Given the description of an element on the screen output the (x, y) to click on. 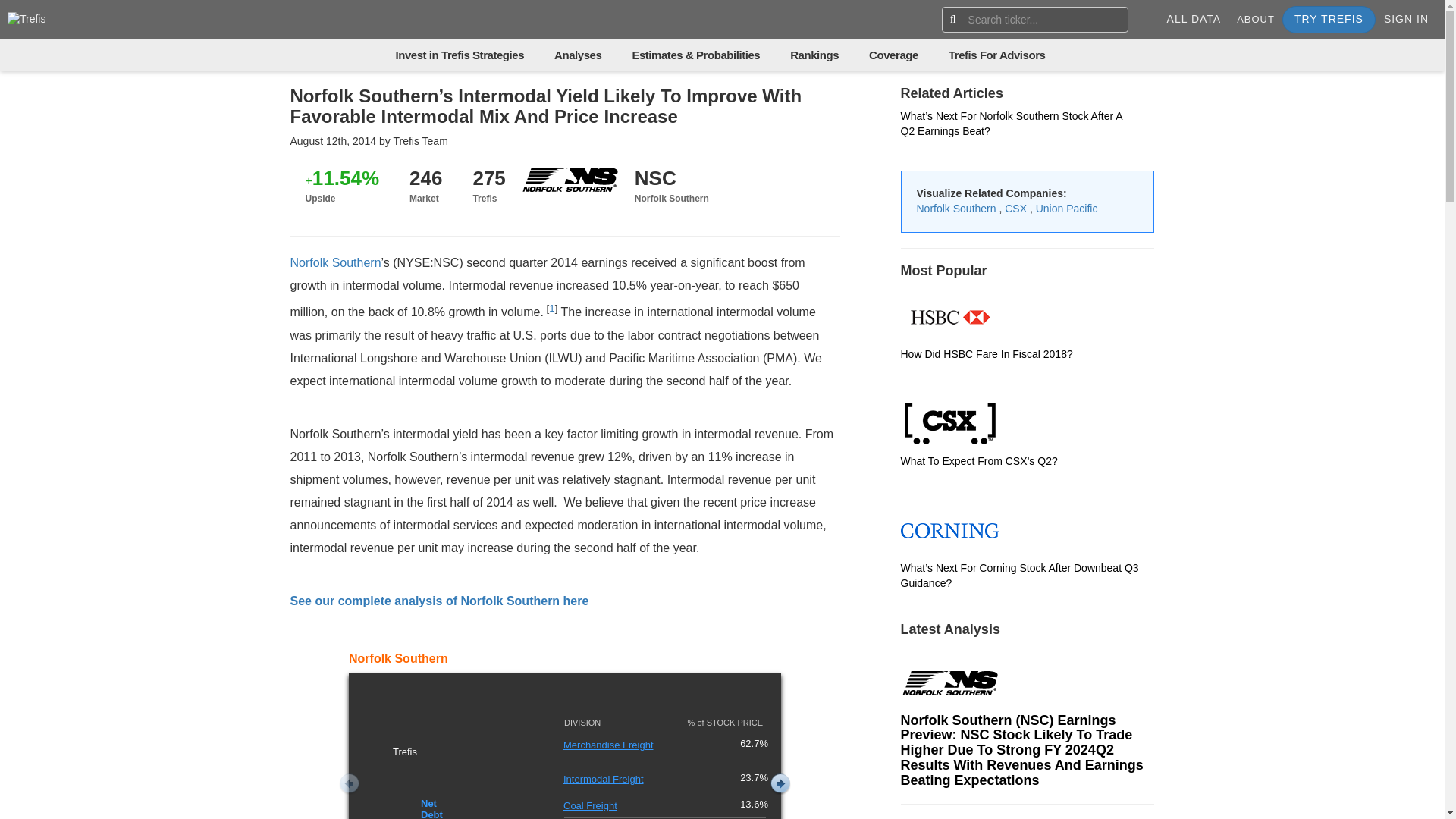
TRY TREFIS (1328, 19)
See our complete analysis of Norfolk Southern here (438, 600)
ALL DATA (1194, 19)
Norfolk Southern (334, 262)
SIGN IN (1406, 19)
Trefis For Advisors (996, 54)
Coverage (893, 54)
Rankings (814, 54)
NSC Logo (949, 682)
ABOUT (1255, 19)
Analyses (577, 54)
Invest in Trefis Strategies (460, 54)
